Given the description of an element on the screen output the (x, y) to click on. 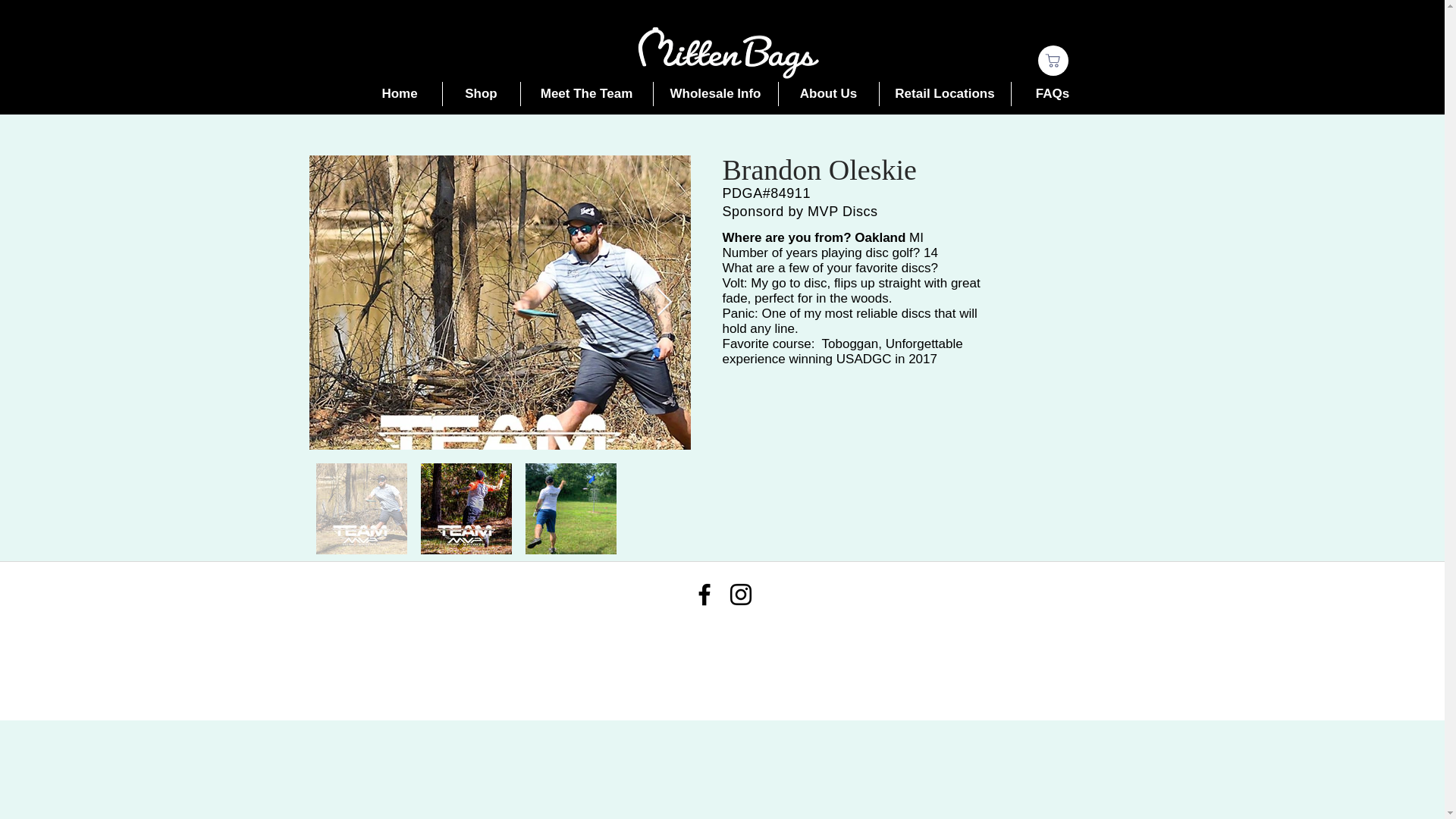
Meet The Team (585, 93)
FAQs (1051, 93)
Home (400, 93)
Wholesale Info (714, 93)
Retail Locations (943, 93)
About Us (828, 93)
